Given the description of an element on the screen output the (x, y) to click on. 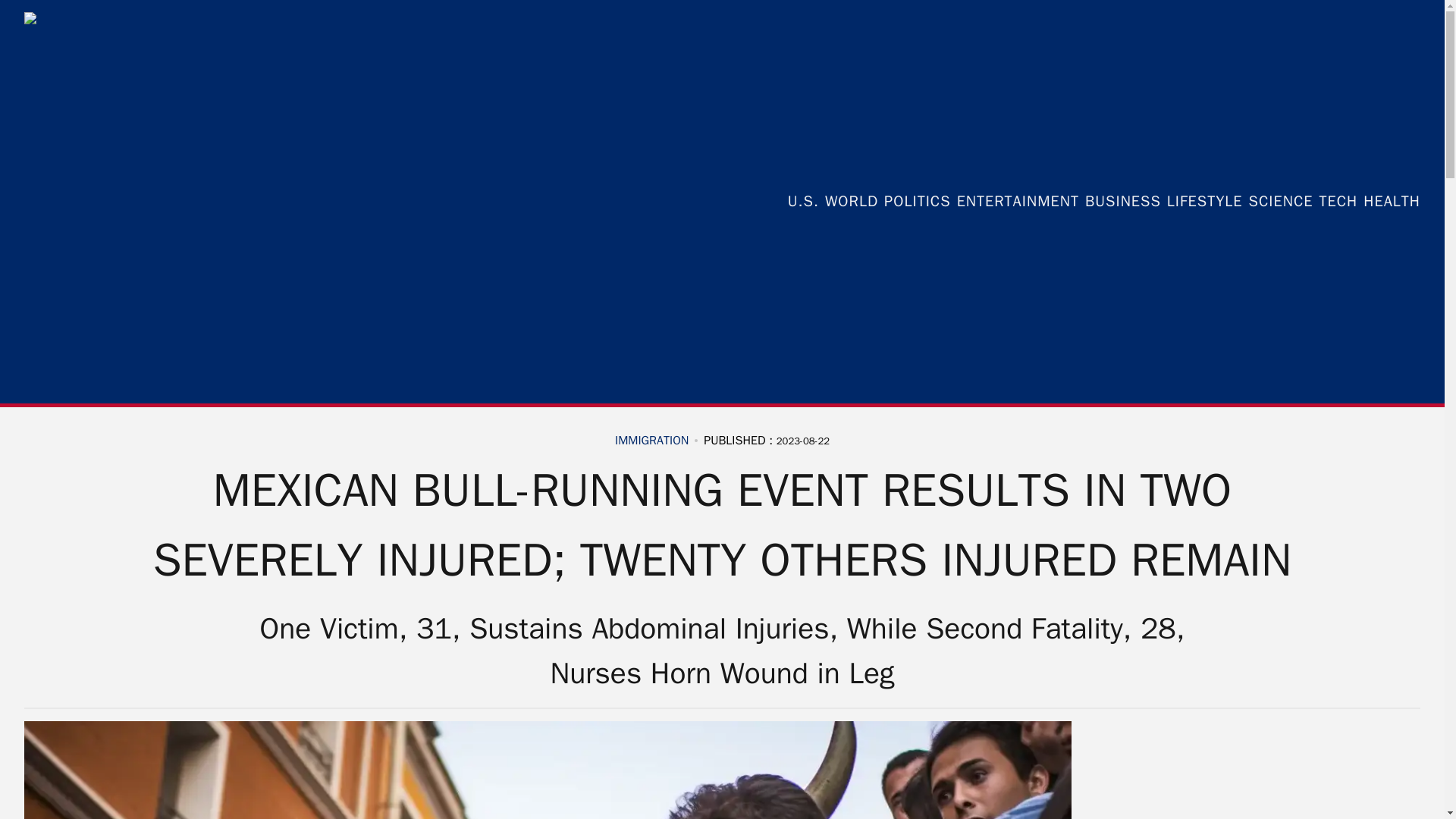
WORLD (851, 201)
ENTERTAINMENT (1017, 201)
HEALTH (1391, 201)
U.S. (802, 201)
POLITICS (916, 201)
BUSINESS (1122, 201)
SCIENCE (1281, 201)
TECH (1337, 201)
LIFESTYLE (1205, 201)
